Given the description of an element on the screen output the (x, y) to click on. 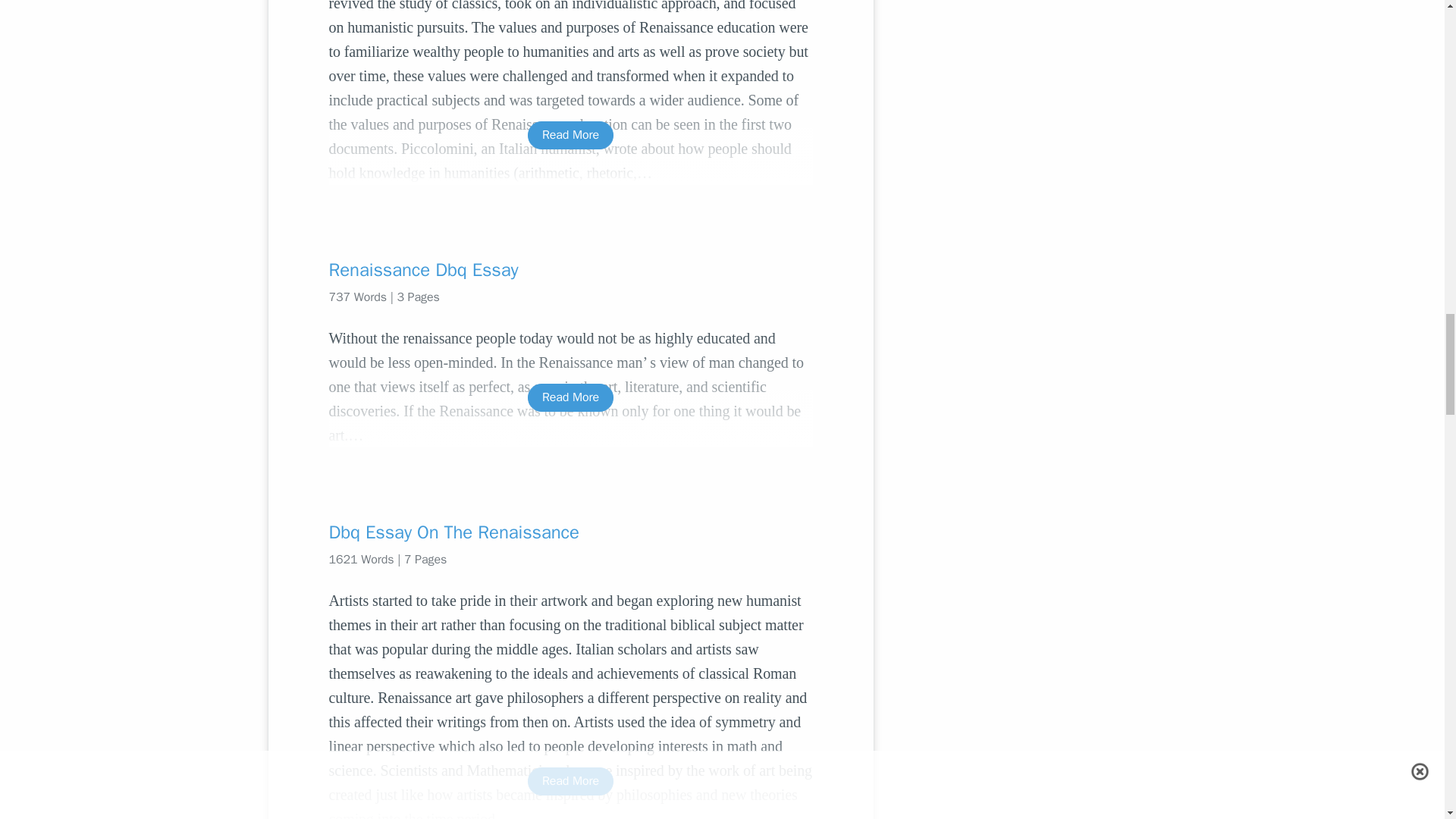
Read More (569, 135)
Read More (569, 781)
Read More (569, 397)
Dbq Essay On The Renaissance (570, 532)
Renaissance Dbq Essay (570, 269)
